Given the description of an element on the screen output the (x, y) to click on. 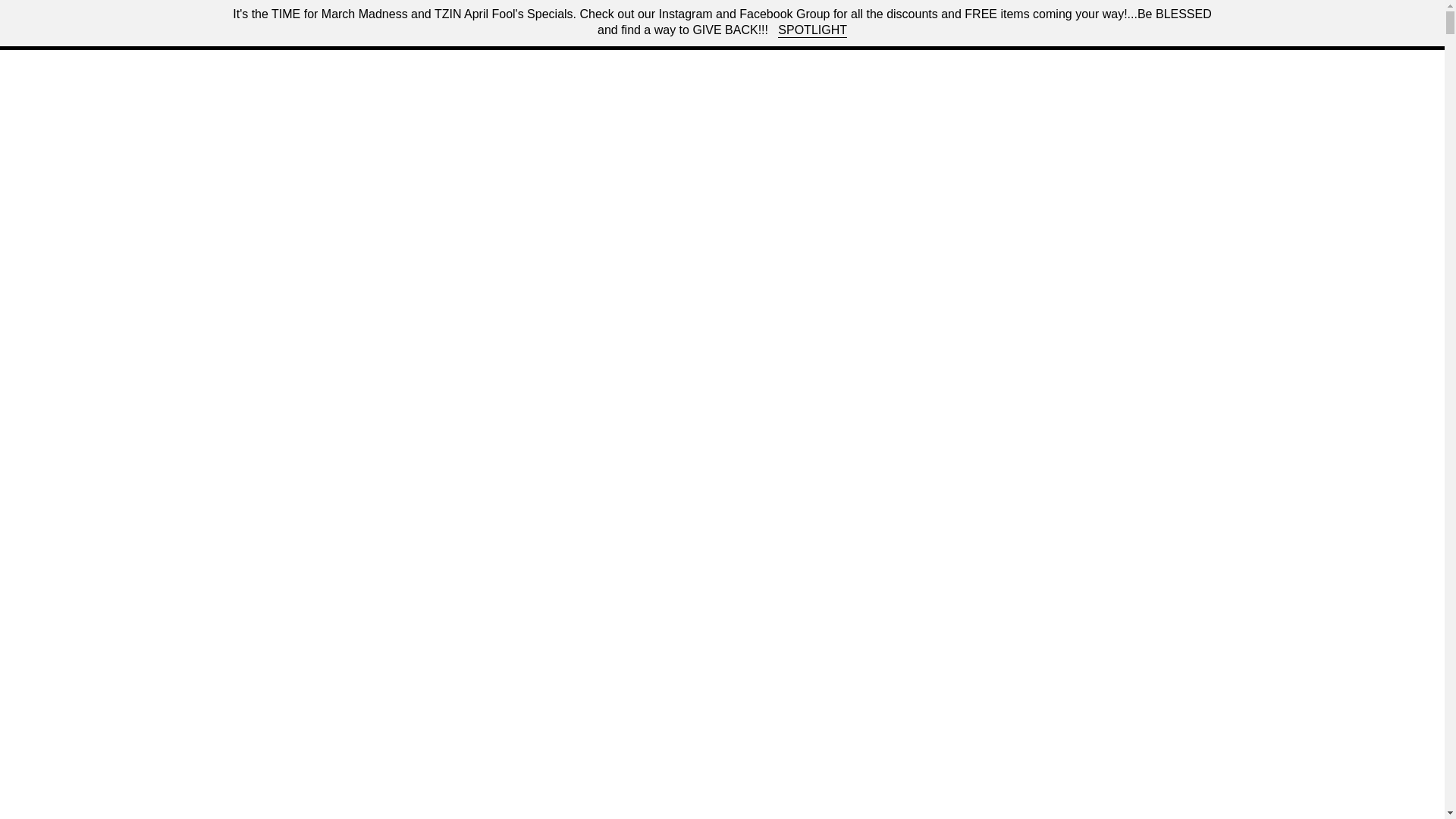
SPOTLIGHT (812, 30)
